Given the description of an element on the screen output the (x, y) to click on. 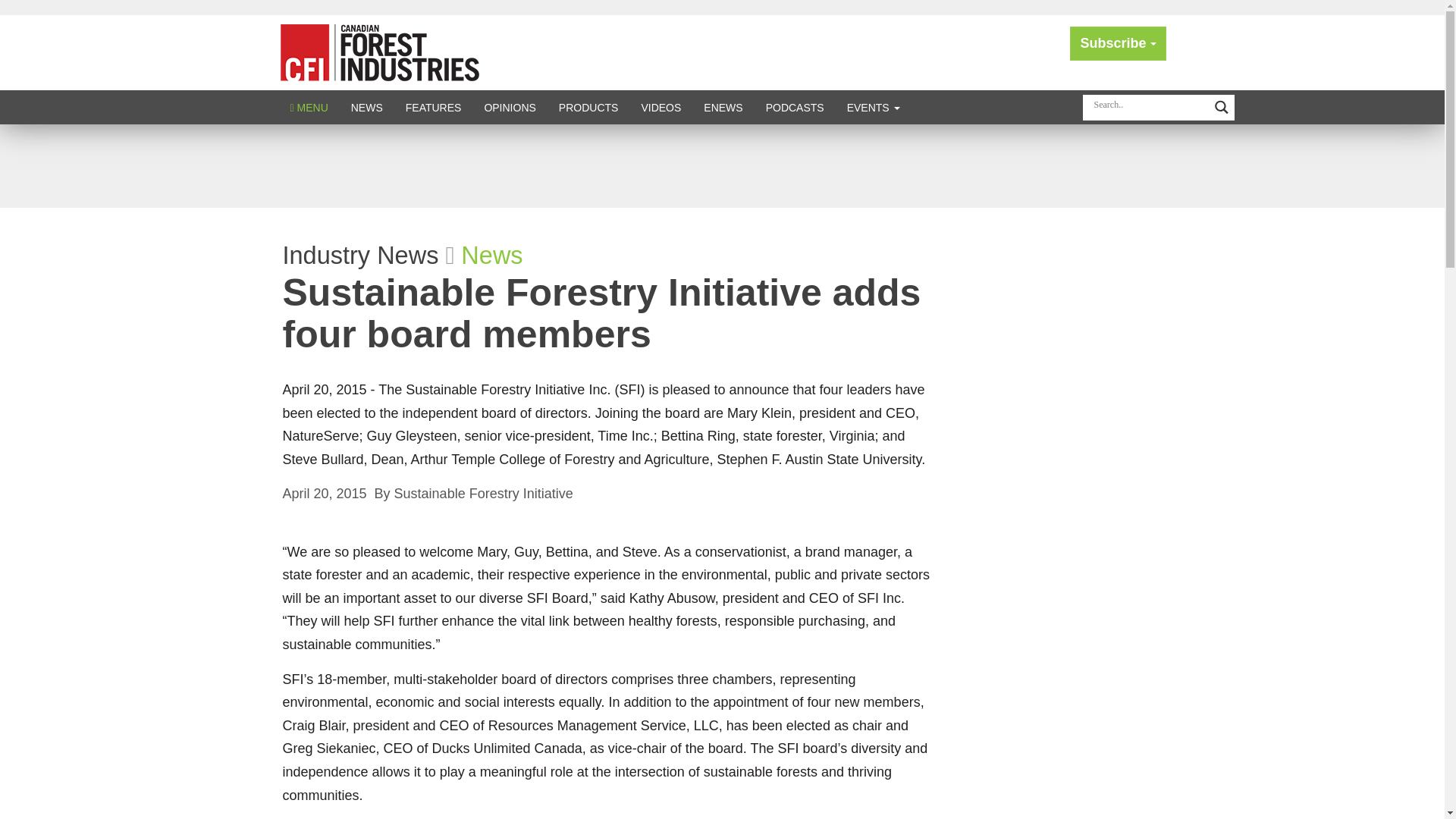
PODCASTS (794, 107)
3rd party ad content (721, 165)
VIDEOS (660, 107)
Click to show site navigation (309, 107)
Subscribe (1118, 43)
PRODUCTS (588, 107)
OPINIONS (509, 107)
NEWS (366, 107)
Wood Business (379, 51)
FEATURES (433, 107)
